Given the description of an element on the screen output the (x, y) to click on. 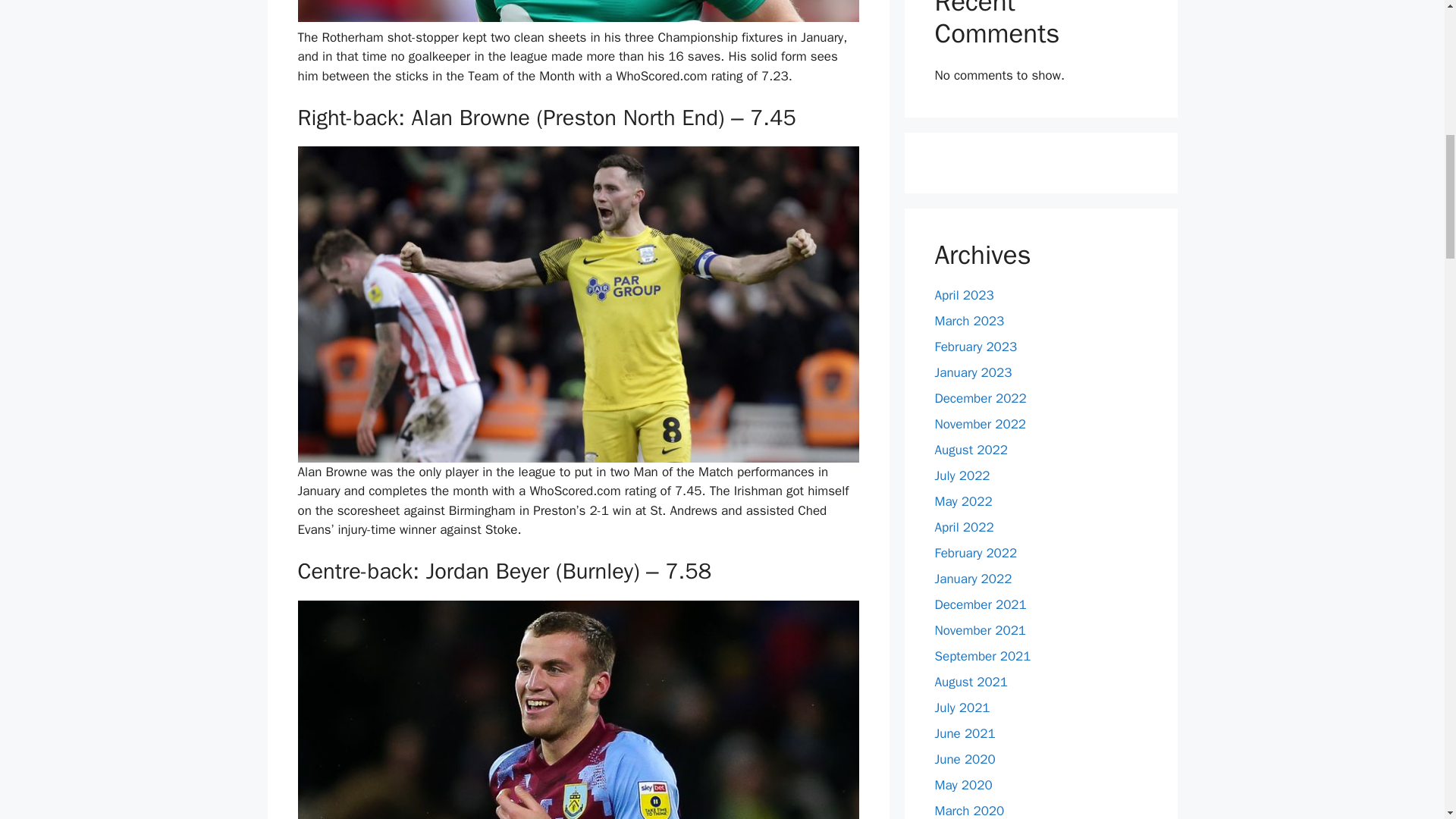
March 2023 (969, 320)
July 2022 (962, 475)
April 2023 (963, 295)
January 2023 (972, 372)
April 2022 (963, 527)
September 2021 (982, 656)
August 2022 (970, 449)
December 2022 (980, 398)
February 2023 (975, 346)
November 2022 (980, 424)
